Given the description of an element on the screen output the (x, y) to click on. 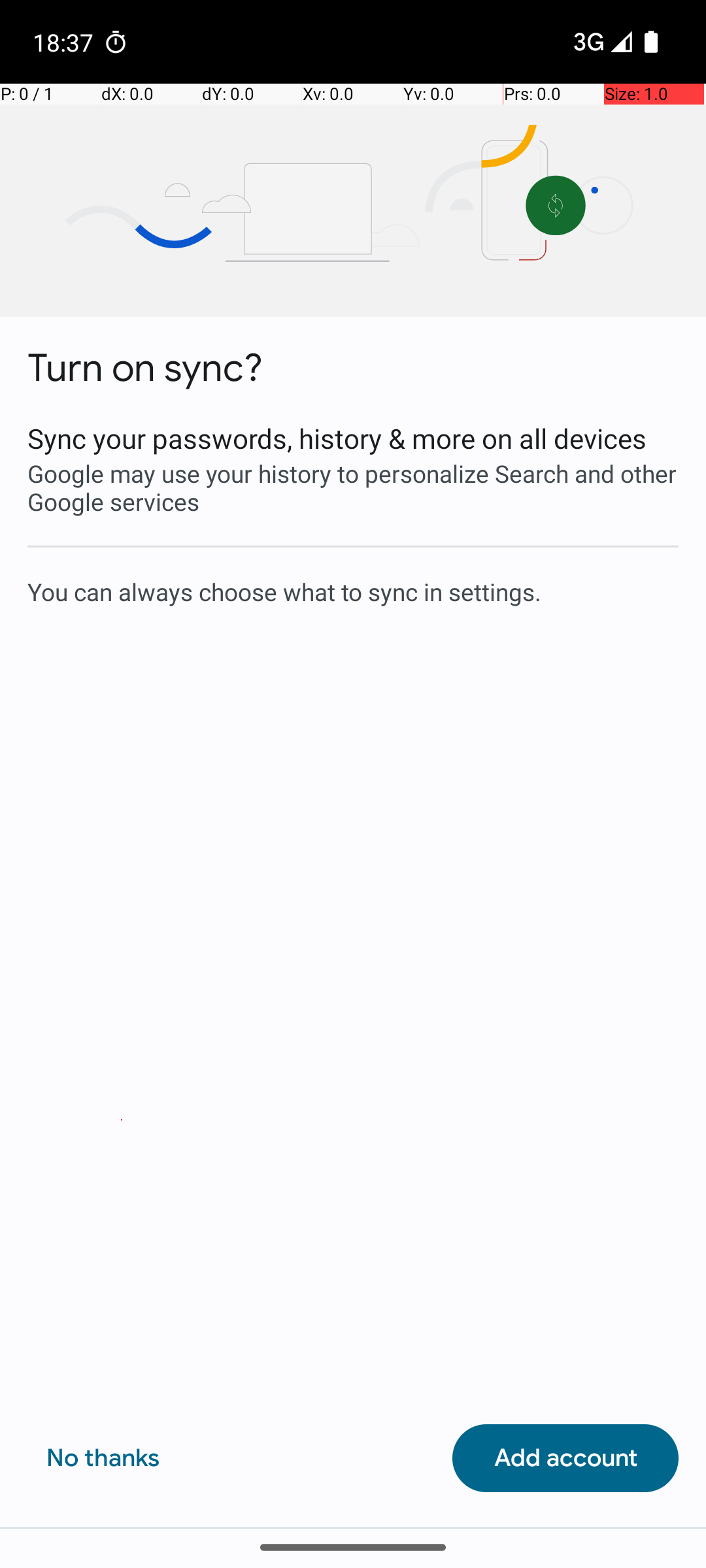
18:37 Element type: android.widget.TextView (64, 41)
